Given the description of an element on the screen output the (x, y) to click on. 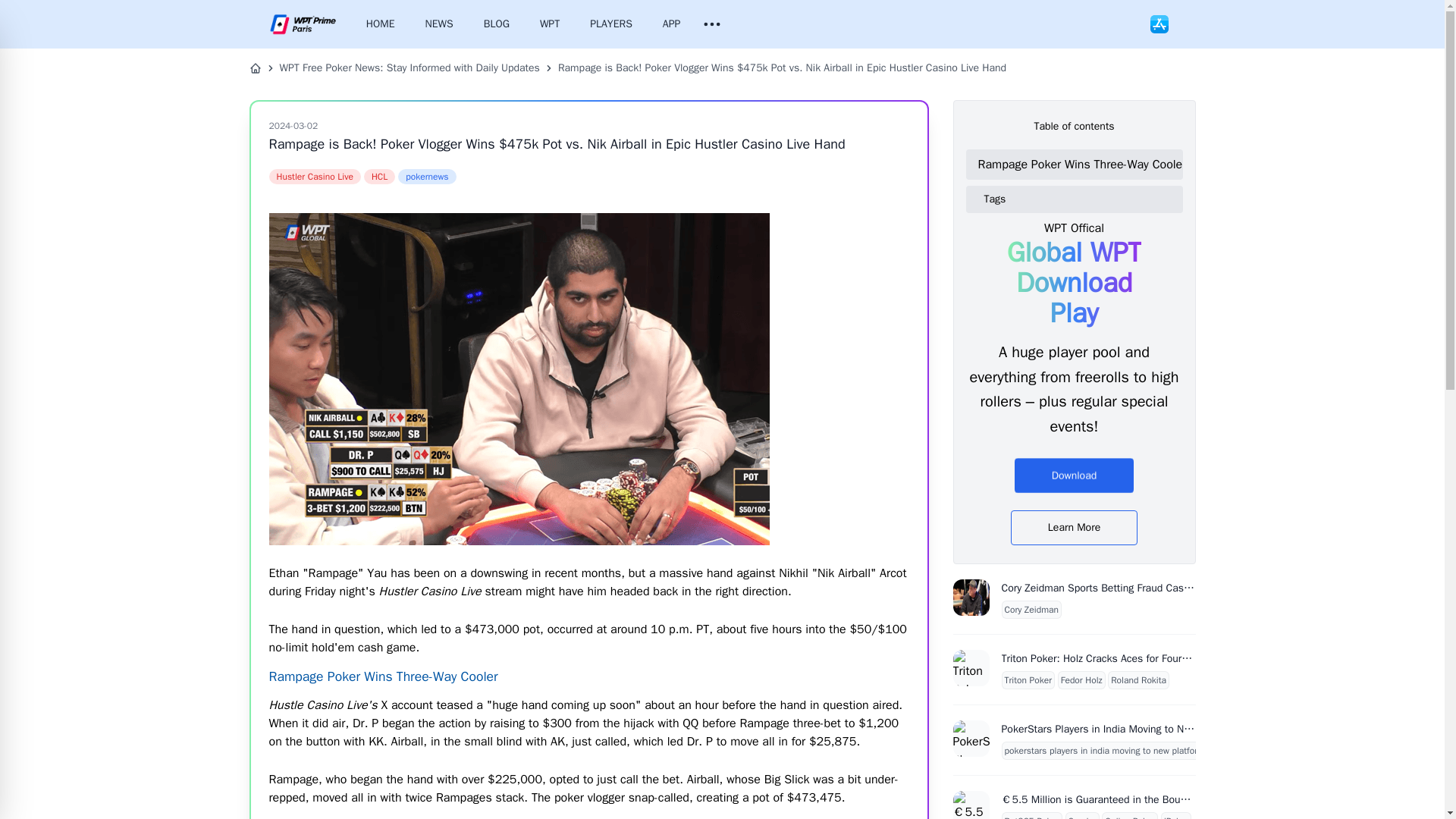
pokernews (426, 176)
Learn More (1073, 527)
BLOG (496, 23)
Cory Zeidman (1031, 609)
PLAYERS (611, 23)
HCL (379, 176)
APP (671, 23)
Hustler (313, 176)
Triton Poker (1027, 680)
Roland Rokita (1138, 680)
HOME (380, 23)
Tags (1080, 198)
